Given the description of an element on the screen output the (x, y) to click on. 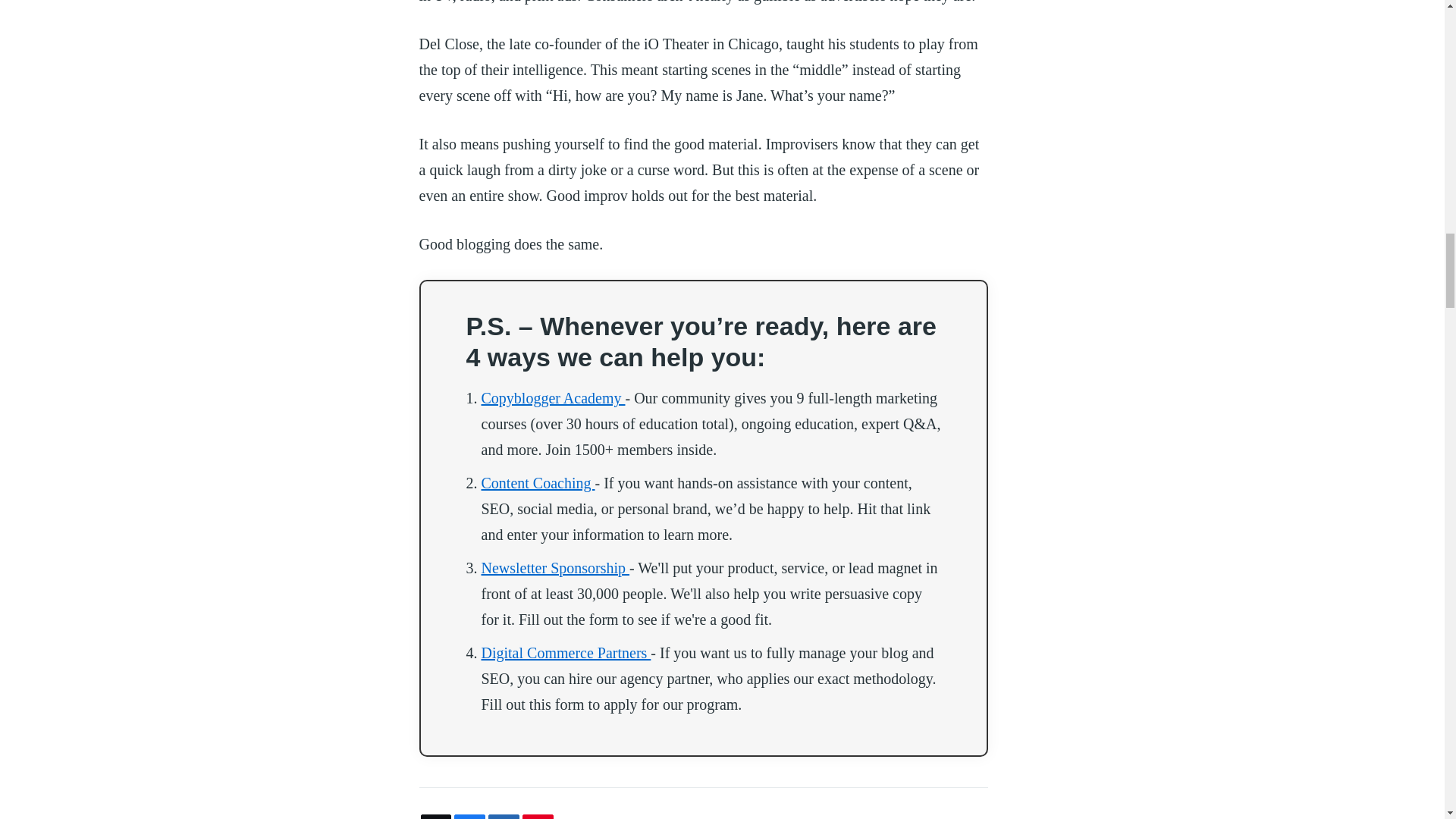
Content Coaching (537, 483)
Copyblogger Academy (552, 397)
Digital Commerce Partners (565, 652)
1 (537, 816)
Newsletter Sponsorship (554, 567)
9 (469, 816)
